Given the description of an element on the screen output the (x, y) to click on. 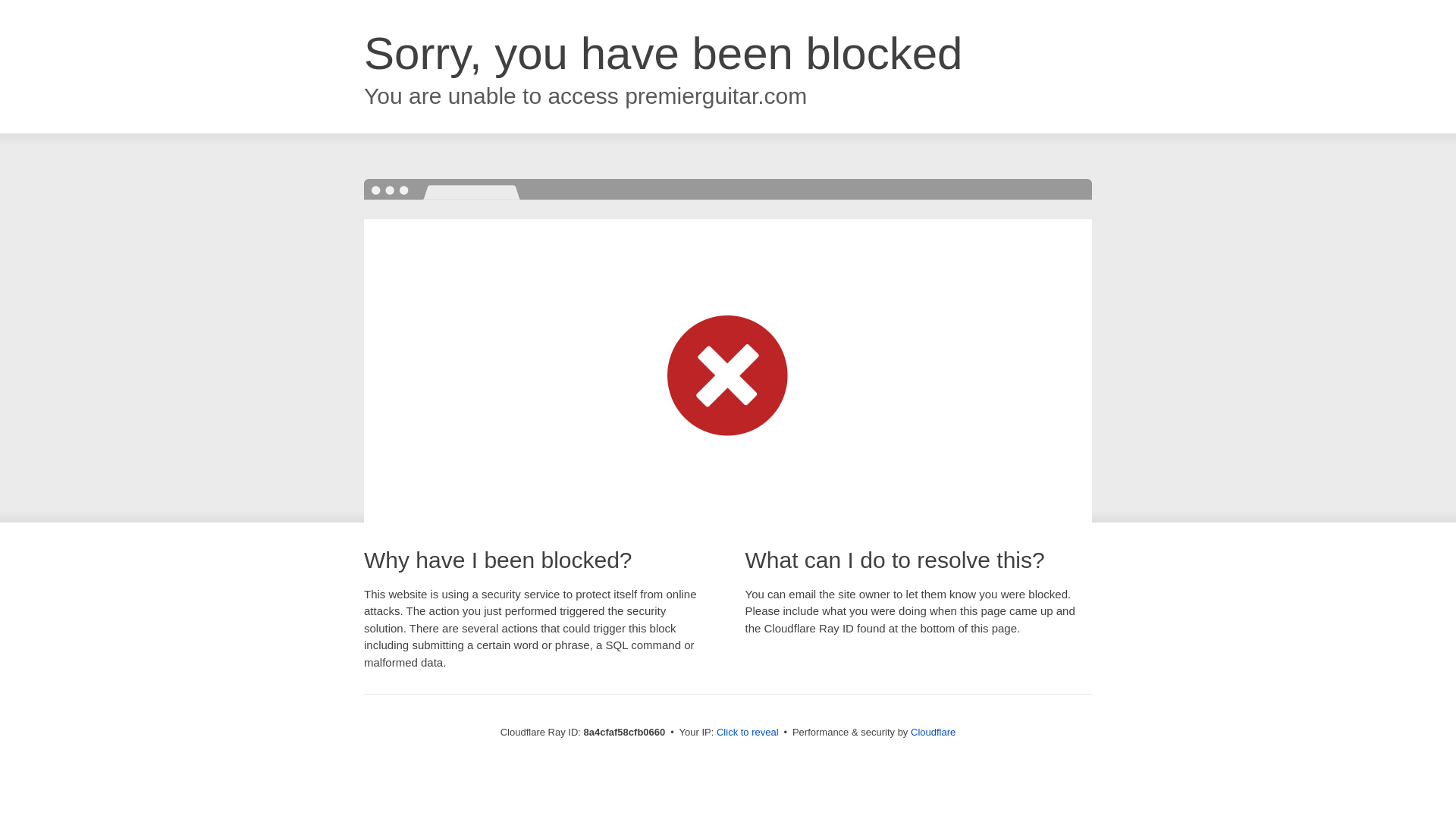
Click to reveal (747, 732)
Cloudflare (933, 731)
